Given the description of an element on the screen output the (x, y) to click on. 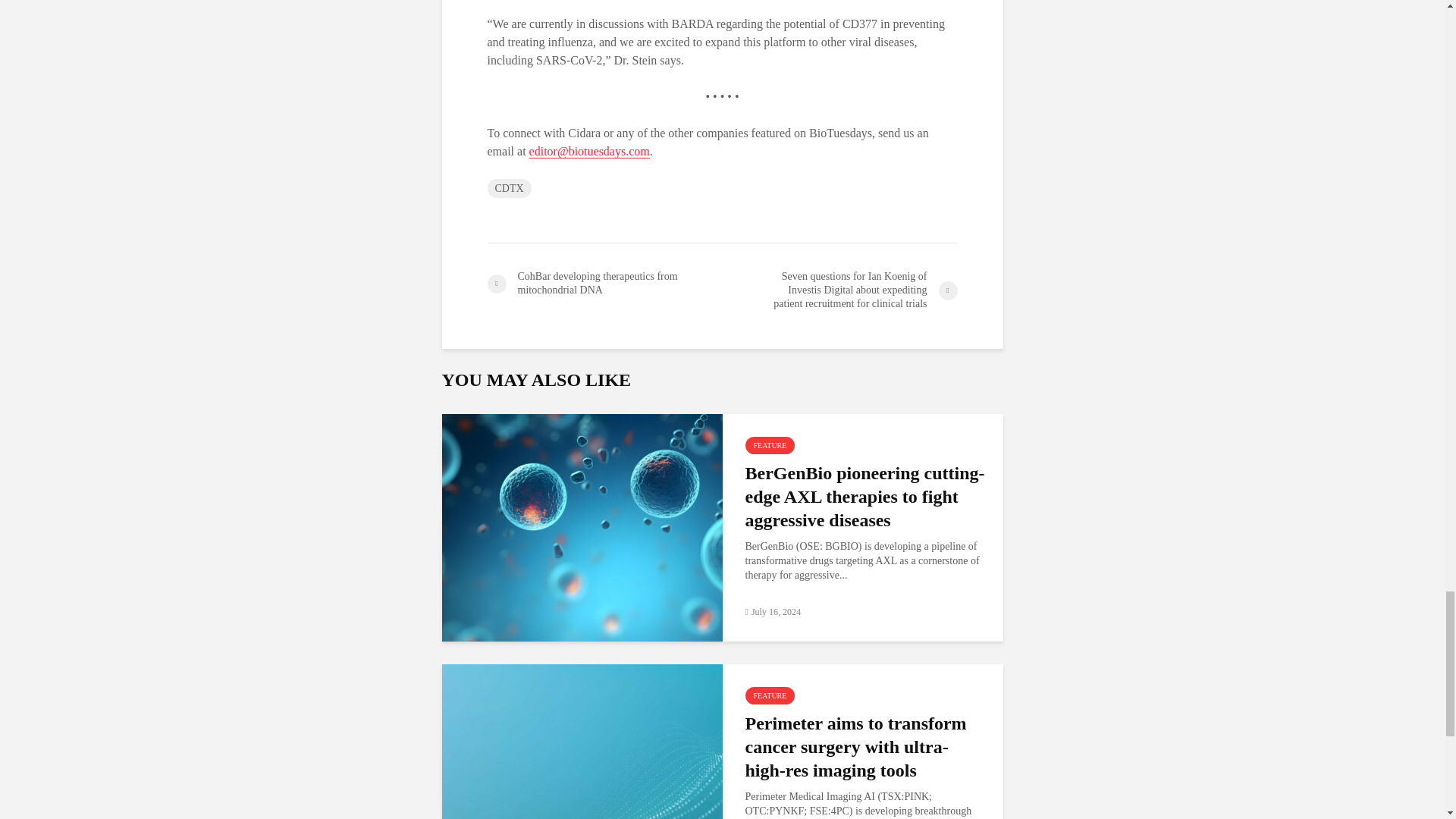
CohBar developing therapeutics from mitochondrial DNA (604, 283)
FEATURE (769, 445)
FEATURE (769, 695)
CDTX (508, 188)
